Given the description of an element on the screen output the (x, y) to click on. 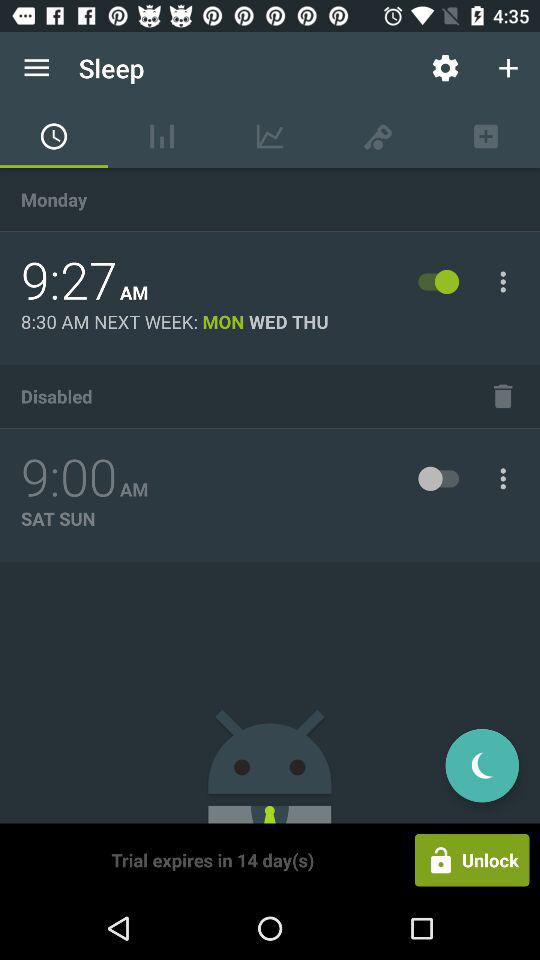
adjust to night mode (482, 765)
